Given the description of an element on the screen output the (x, y) to click on. 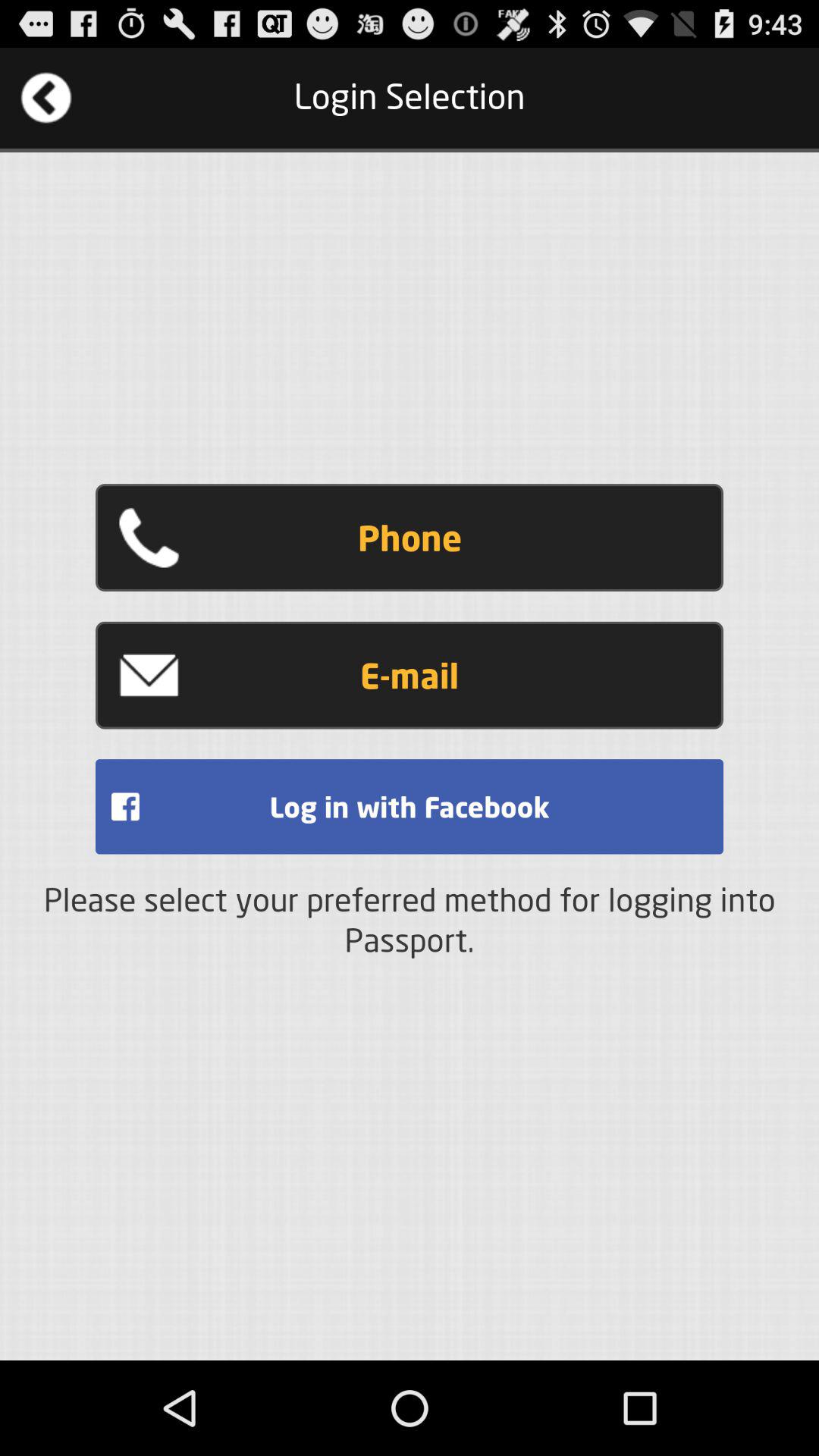
flip until e-mail icon (409, 675)
